Given the description of an element on the screen output the (x, y) to click on. 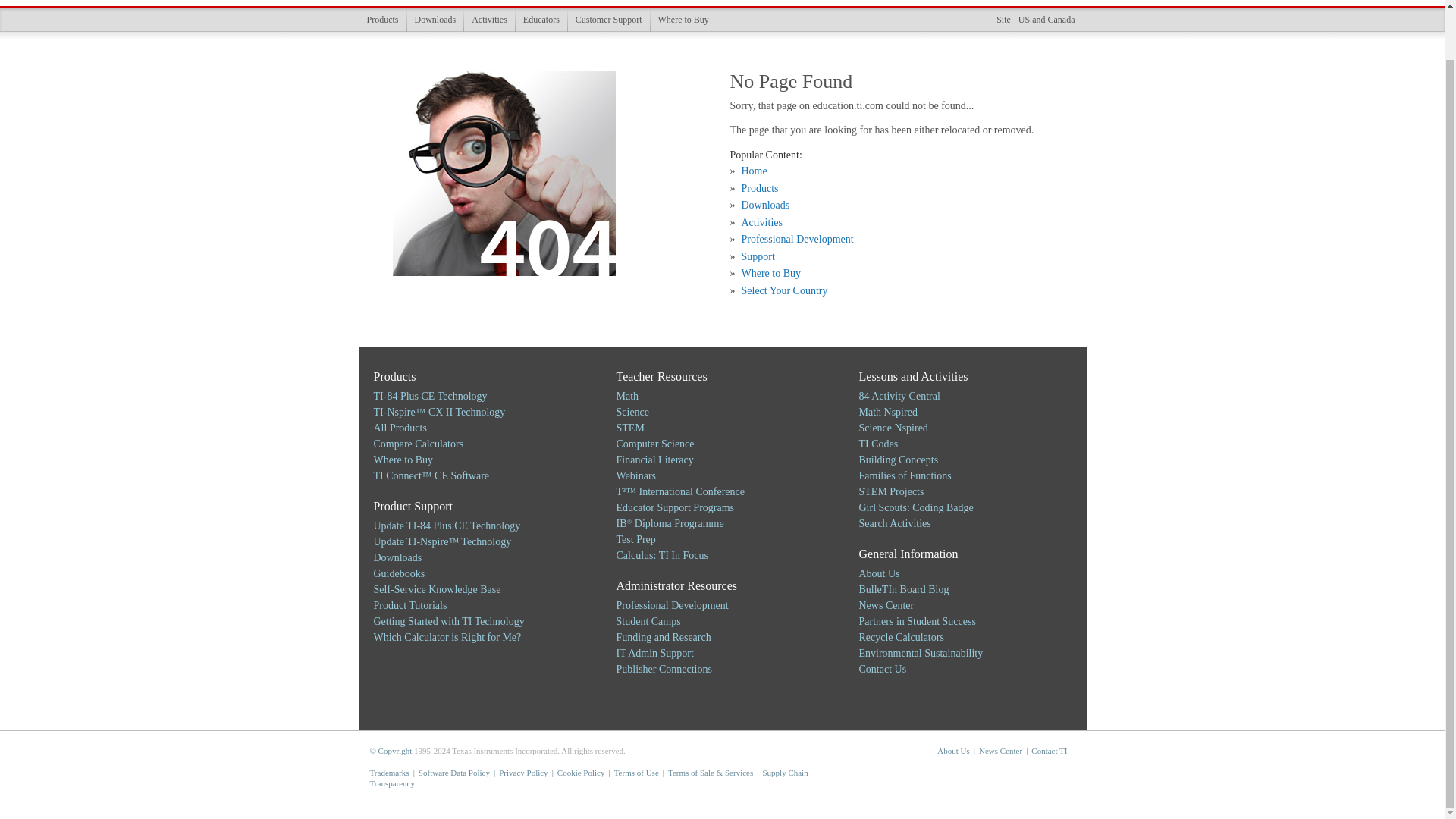
Downloads (435, 19)
Self-Service Knowledge Base  (436, 589)
Products (382, 19)
Educators (541, 19)
Where to Buy (402, 460)
Math (627, 396)
Product Tutorials (409, 604)
Compare Calculators (417, 443)
Science (632, 411)
Update TI-Nspire Technology (441, 541)
Activities (489, 19)
Update TI-84 Plus CE Technology (445, 525)
All Products (399, 428)
Getting Started with TI Technology (448, 621)
TI-84 Plus CE Technology (429, 396)
